Given the description of an element on the screen output the (x, y) to click on. 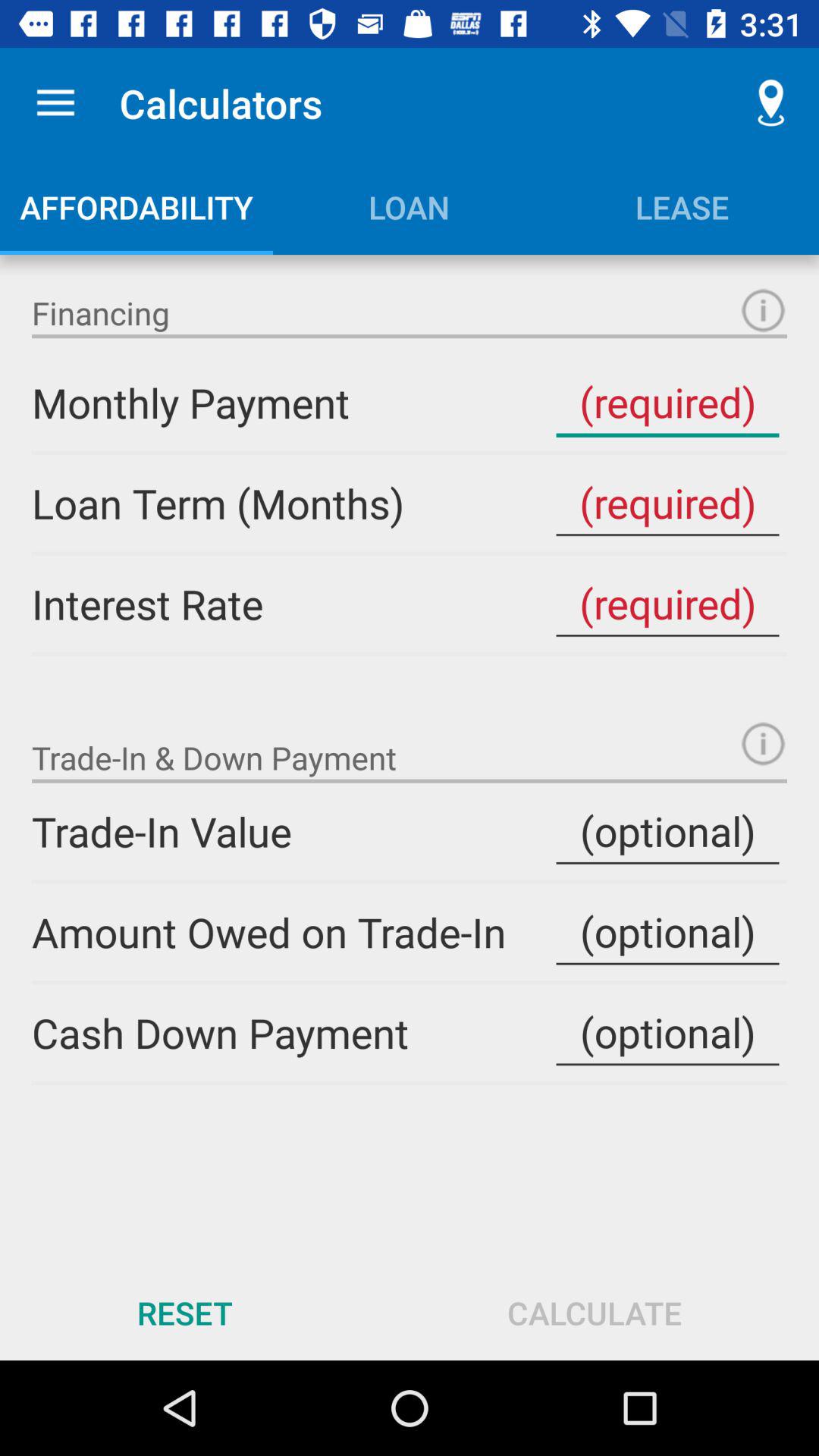
display more information (763, 743)
